Given the description of an element on the screen output the (x, y) to click on. 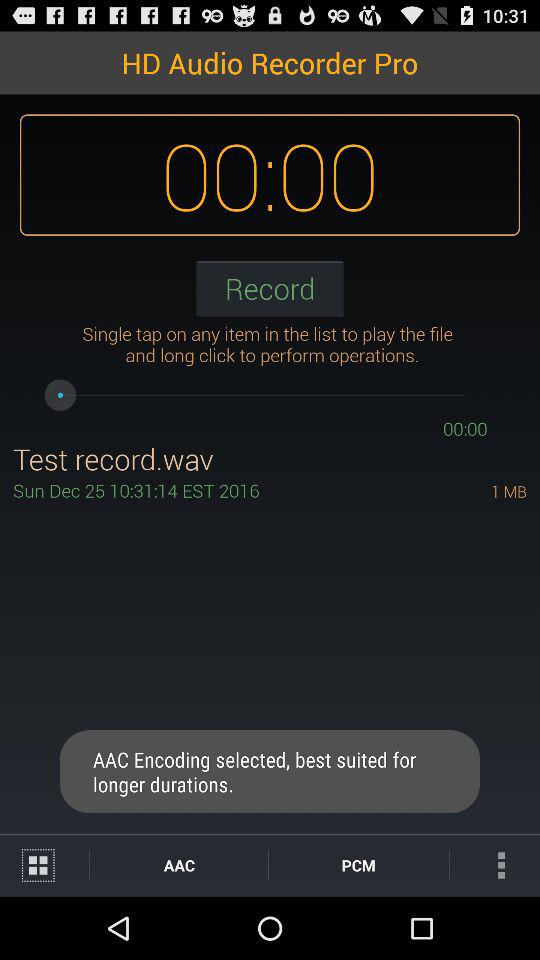
open menu tiles (44, 865)
